Given the description of an element on the screen output the (x, y) to click on. 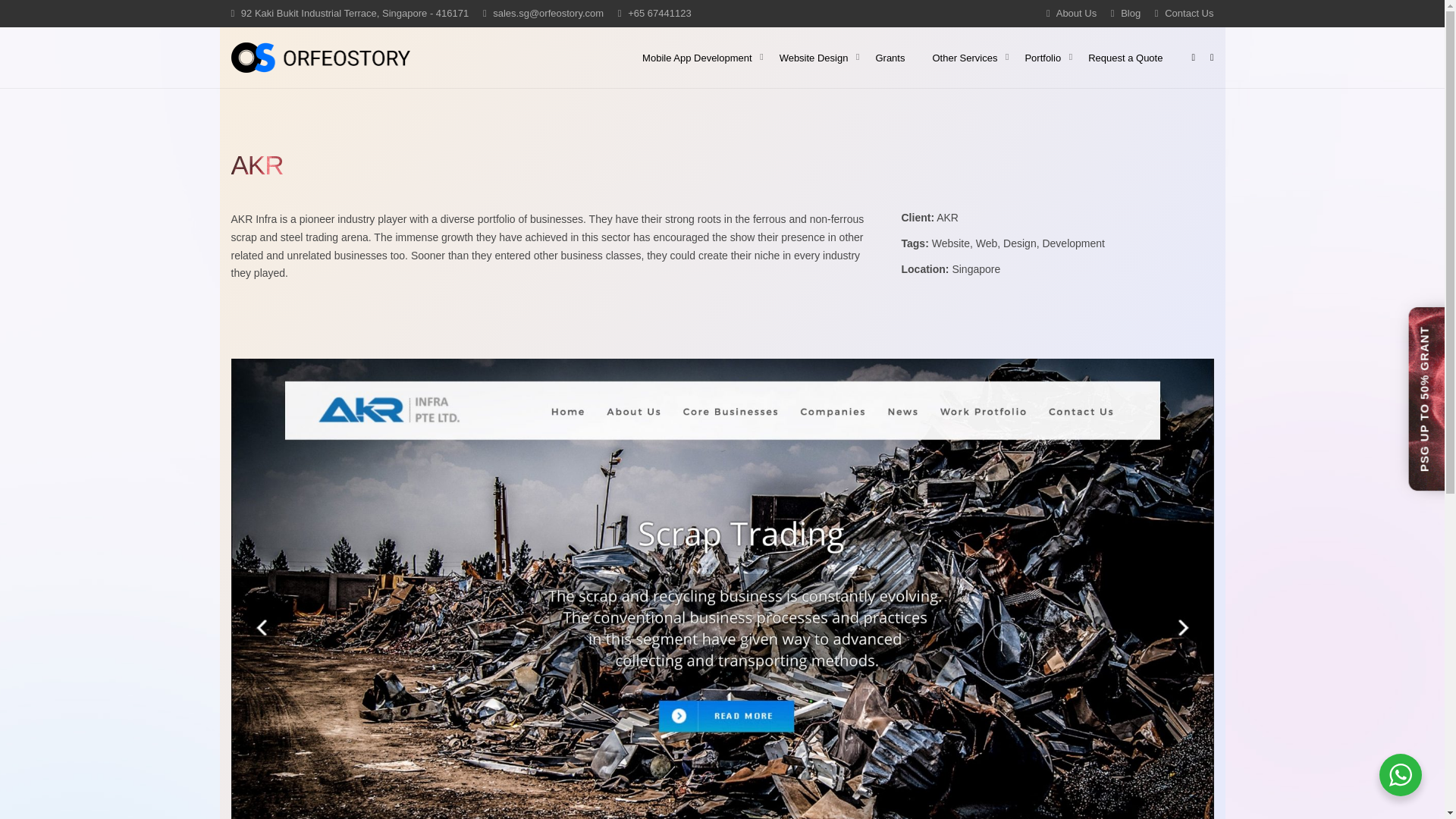
Website Design (813, 57)
Contact Us (1184, 12)
Grants (889, 57)
Other Services (964, 57)
About Us (1071, 12)
Blog (1125, 12)
Mobile App Development (696, 57)
